Given the description of an element on the screen output the (x, y) to click on. 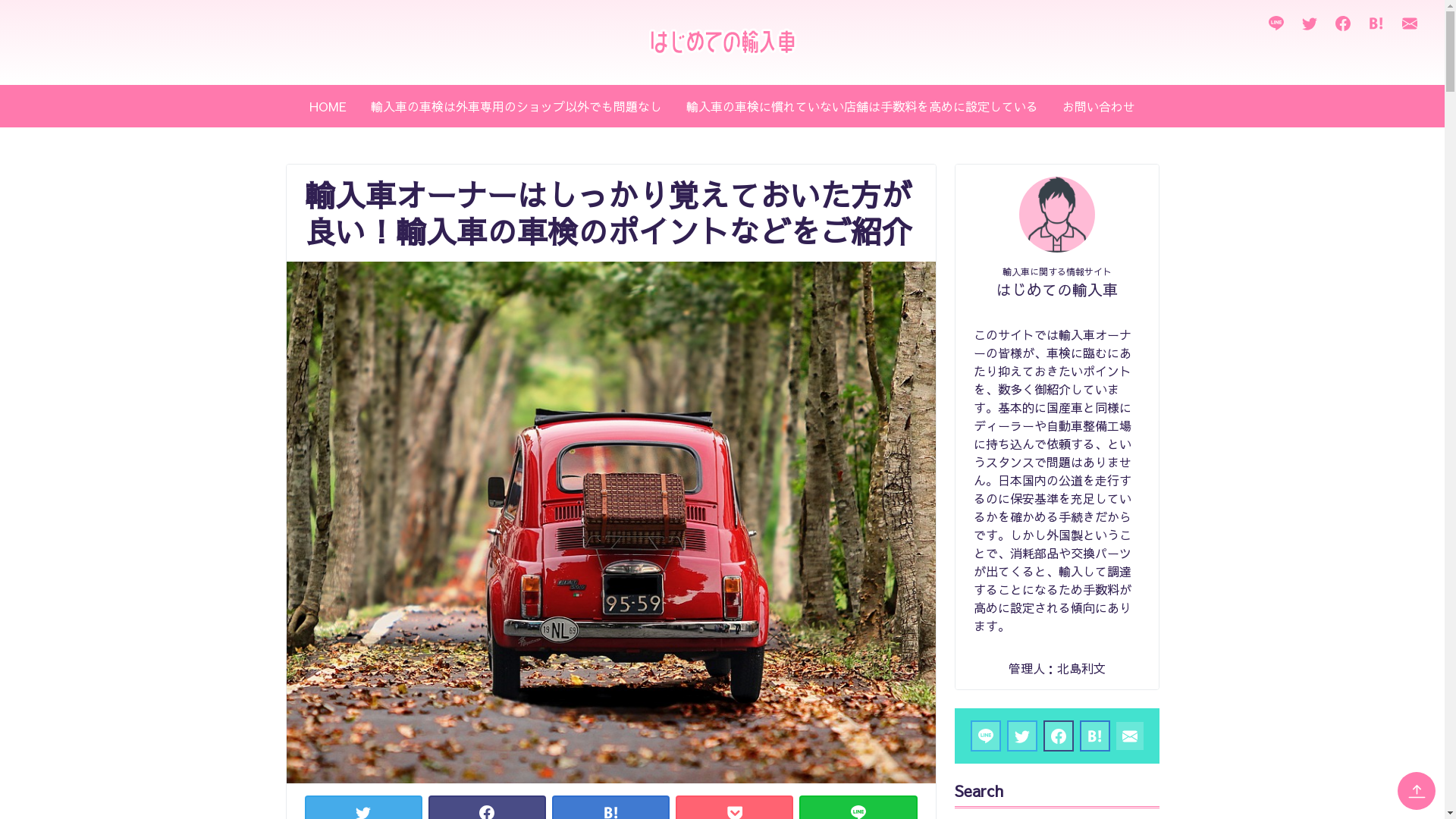
HOME Element type: text (327, 105)
